Given the description of an element on the screen output the (x, y) to click on. 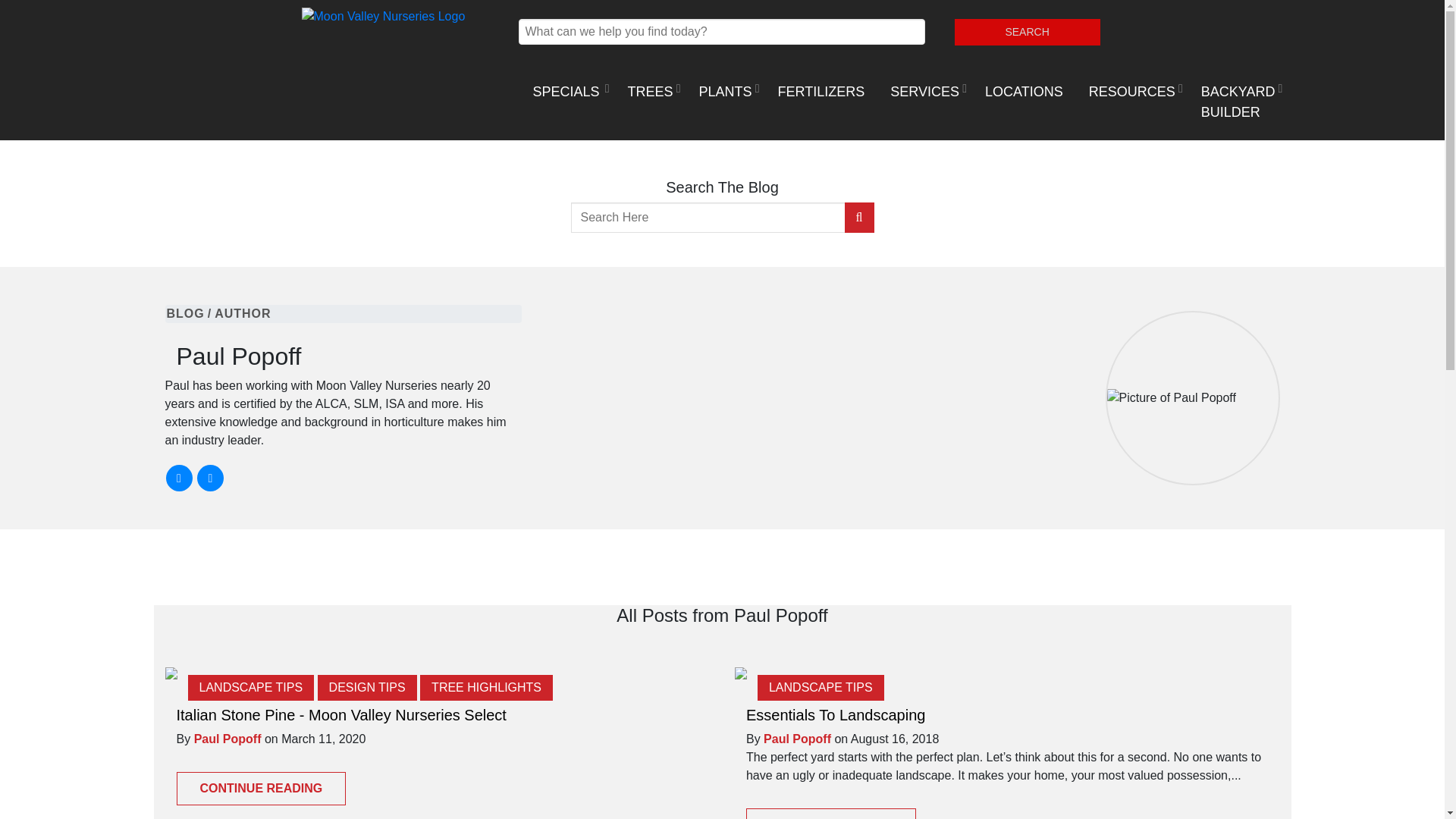
SEARCH (1027, 31)
Email (210, 478)
Search (1027, 31)
Website (178, 478)
